Given the description of an element on the screen output the (x, y) to click on. 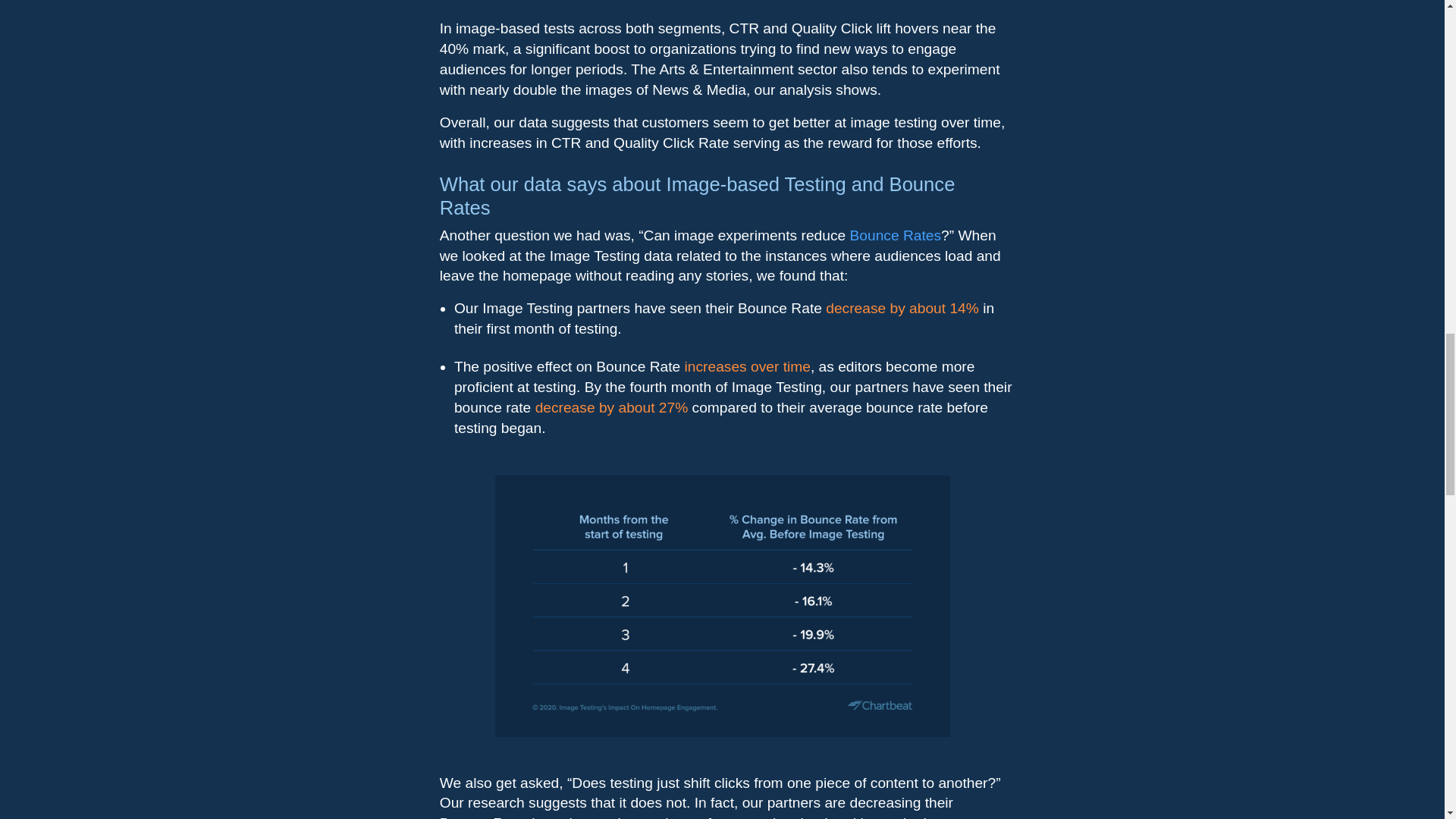
Bounce Rates (894, 235)
